Given the description of an element on the screen output the (x, y) to click on. 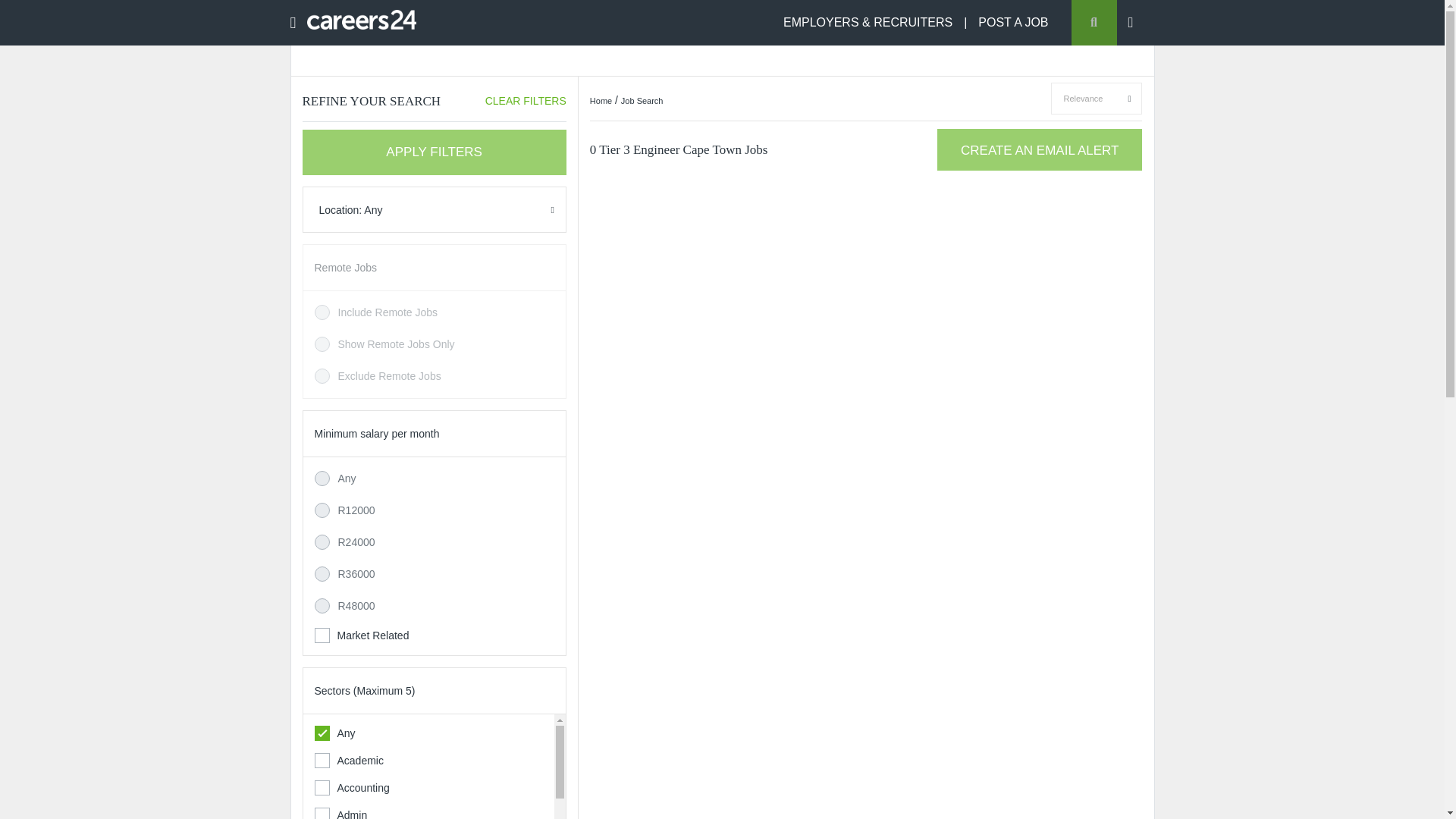
APPLY FILTERS (433, 152)
CLEAR FILTERS (525, 101)
CREATE AN EMAIL ALERT (1039, 149)
Remote Jobs (344, 267)
Job Search (642, 100)
Home (600, 100)
POST A JOB (1013, 21)
Minimum salary per month (376, 433)
